Given the description of an element on the screen output the (x, y) to click on. 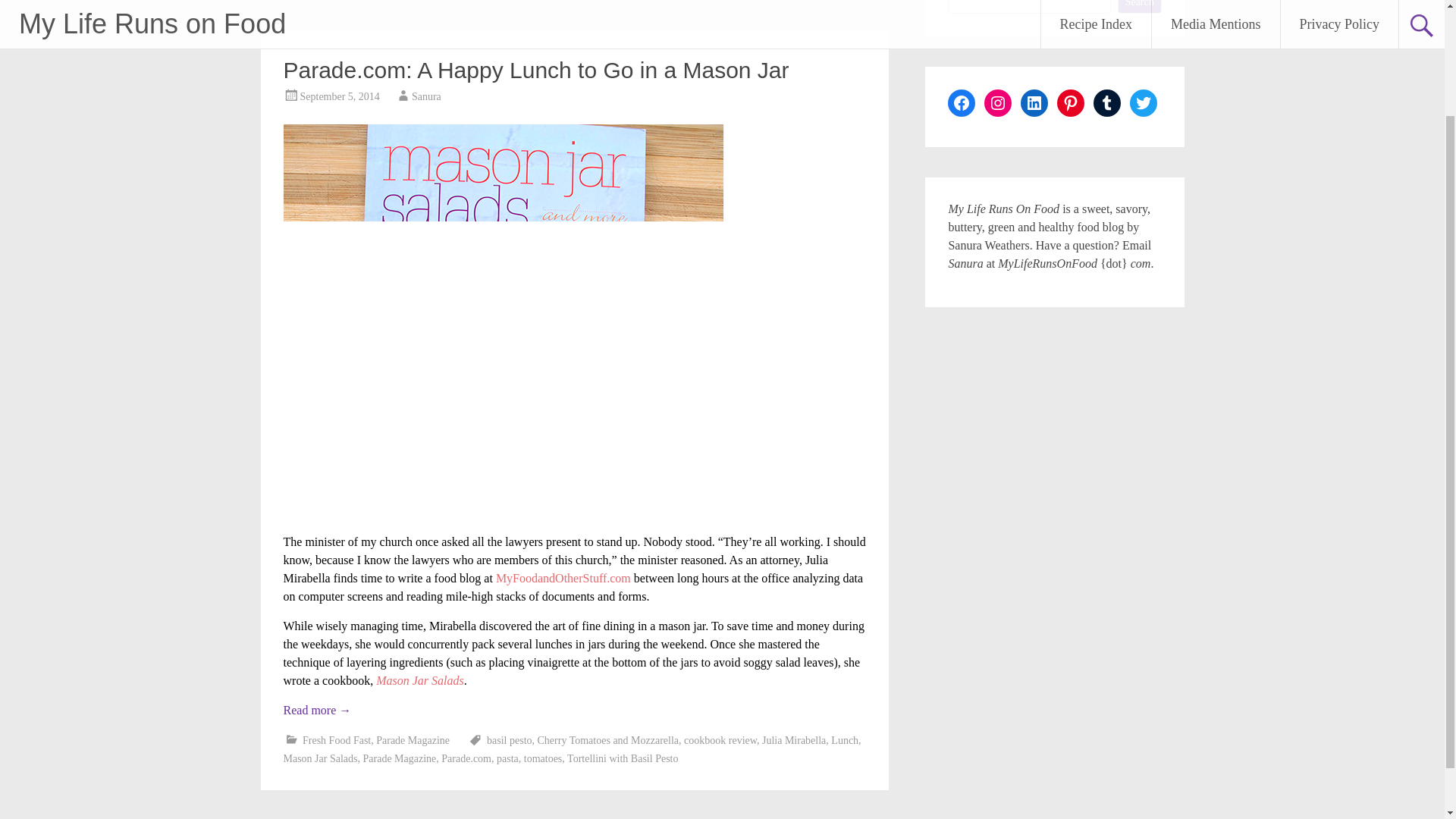
MyFoodandOtherStuff.com (563, 577)
Parade.com: A Happy Lunch to Go in a Mason Jar (536, 69)
Sanura (426, 96)
Tortellini with Basil Pesto (622, 758)
Instagram (997, 103)
Facebook (961, 103)
September 5, 2014 (339, 96)
cookbook review (720, 740)
Fresh Food Fast (336, 740)
Twitter (1143, 103)
